Given the description of an element on the screen output the (x, y) to click on. 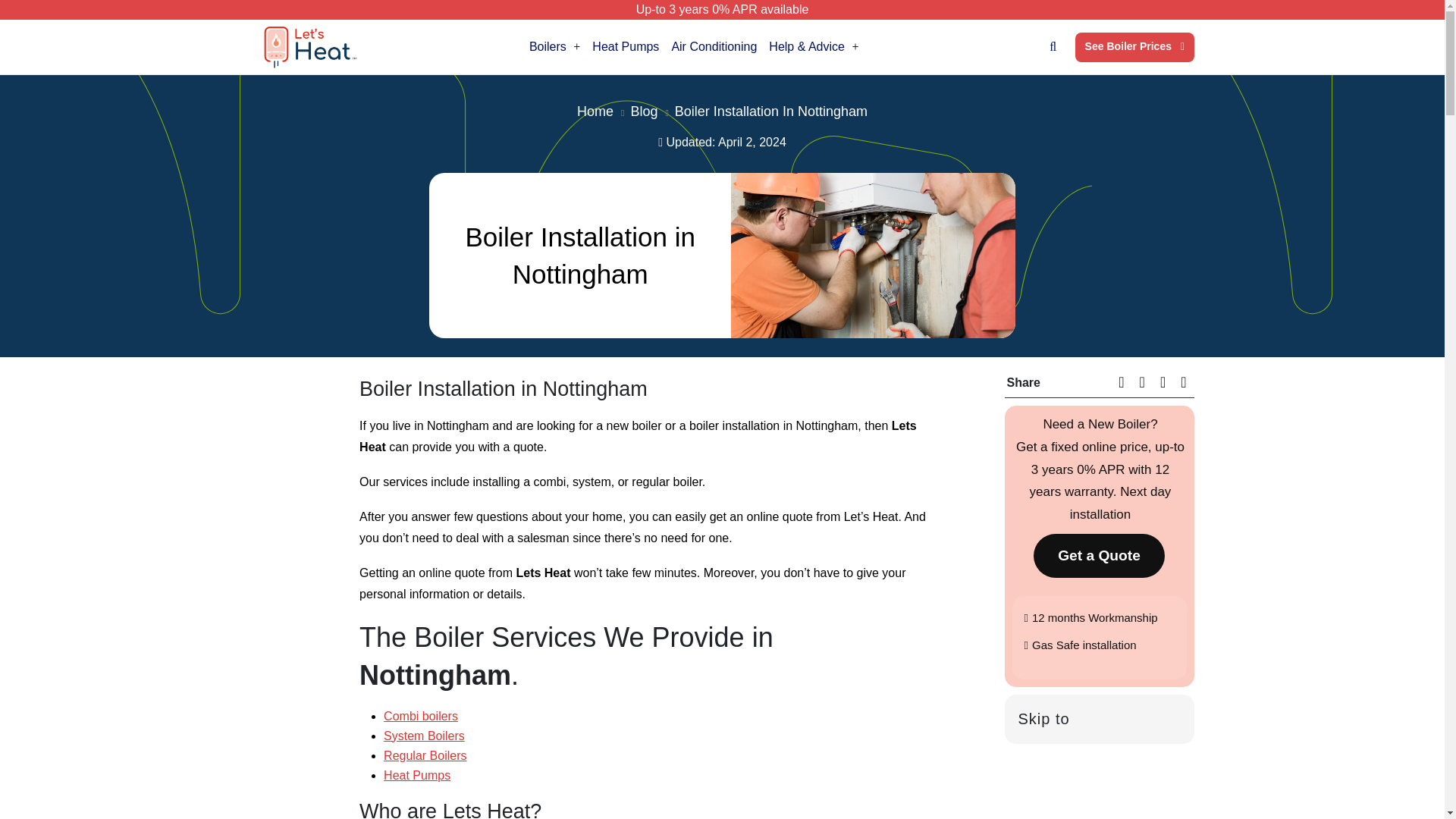
Air Conditioning (714, 46)
Heat Pumps (625, 46)
Boilers (554, 46)
